Given the description of an element on the screen output the (x, y) to click on. 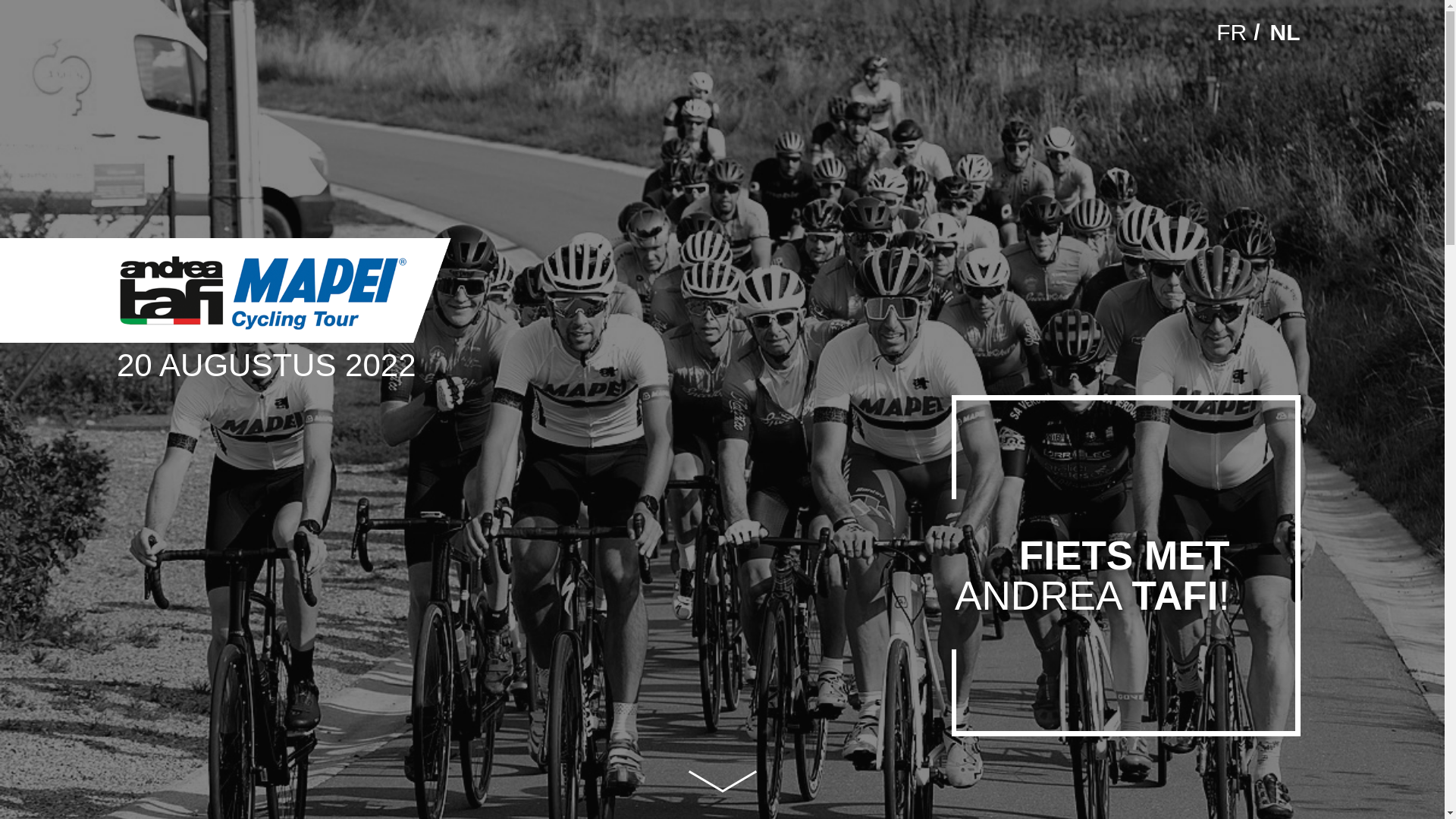
FR Element type: text (1231, 31)
NL Element type: text (1284, 31)
